Given the description of an element on the screen output the (x, y) to click on. 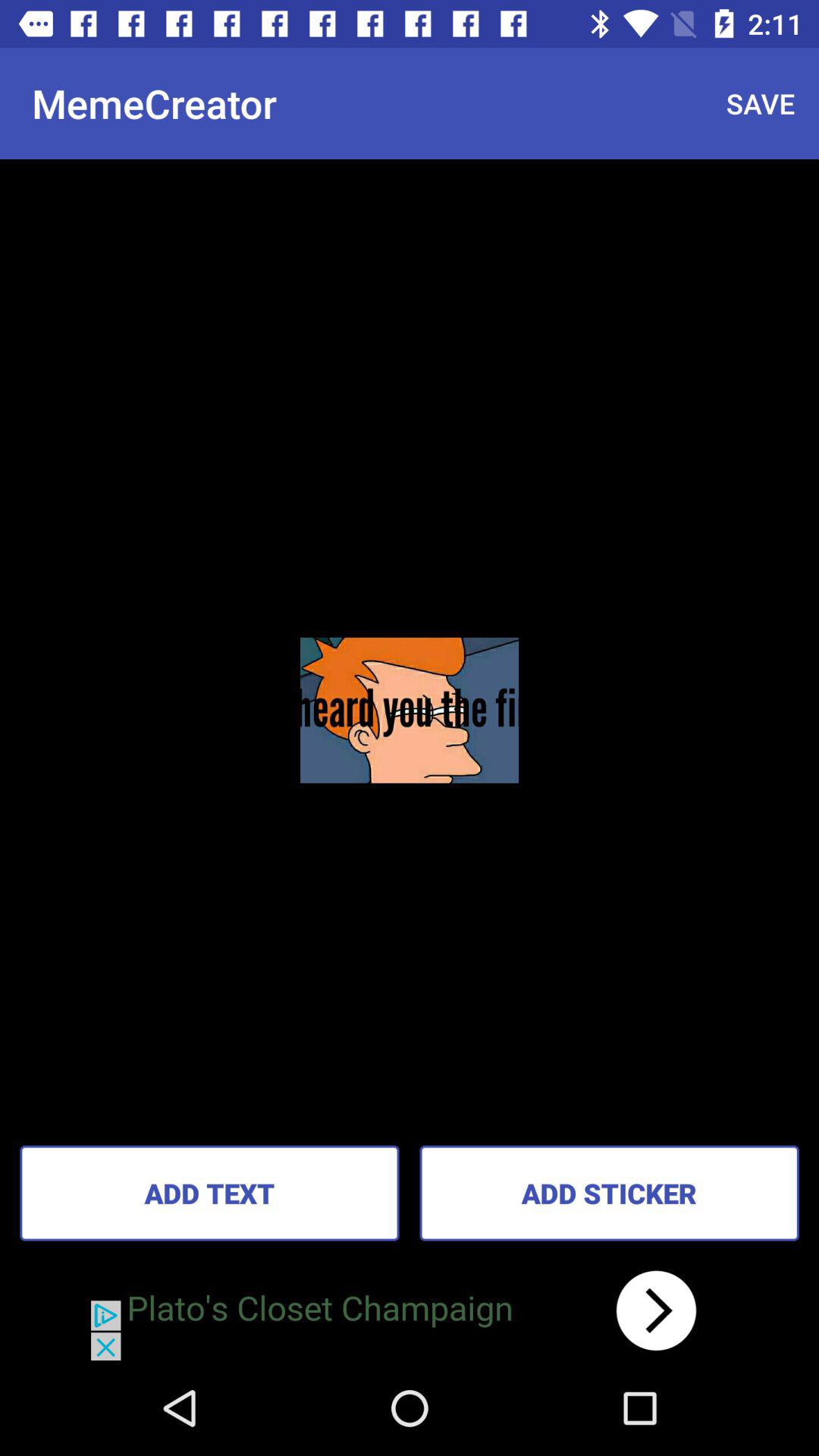
open advertisement (409, 1310)
